Given the description of an element on the screen output the (x, y) to click on. 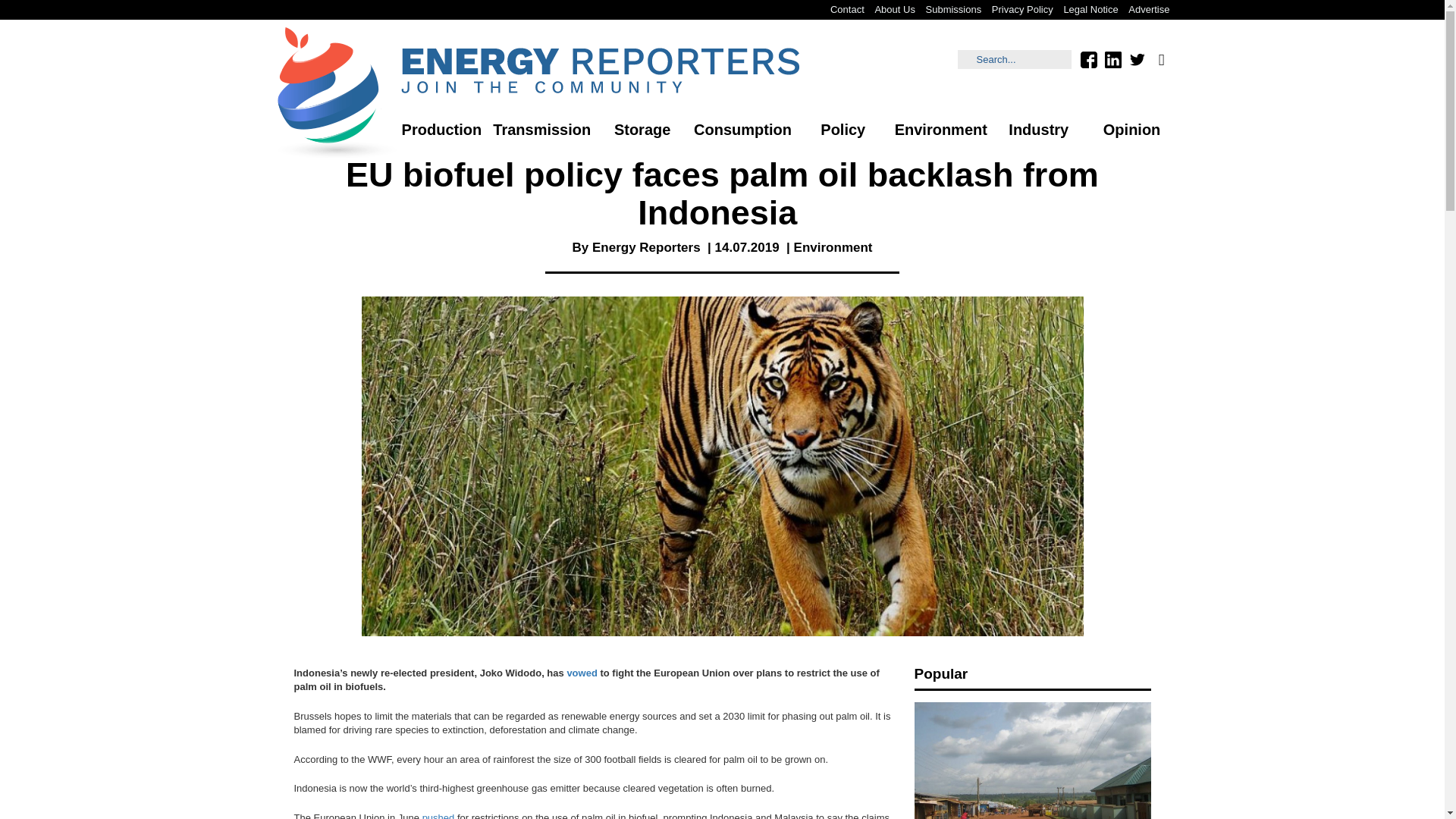
Environment (832, 247)
About Us (894, 9)
Submissions (953, 9)
Opinion (1131, 129)
RSS (1160, 59)
Industry (1038, 129)
RSS (1160, 59)
Facebook (1087, 59)
Twitter (1136, 59)
LinkedIn (1112, 59)
